Given the description of an element on the screen output the (x, y) to click on. 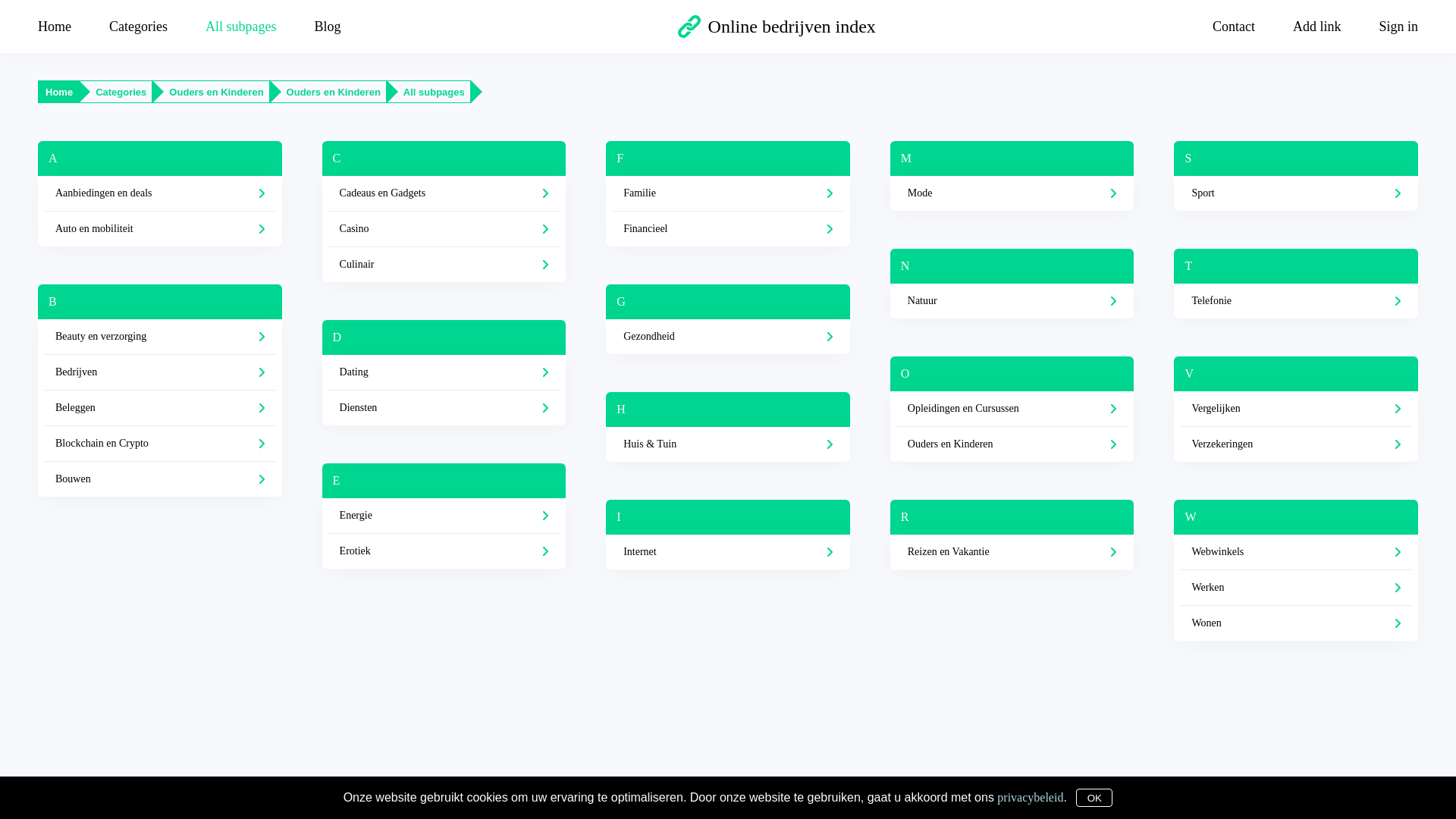
Aanbiedingen en deals Element type: text (159, 193)
Culinair Element type: text (444, 264)
Bouwen Element type: text (159, 478)
Ouders en Kinderen Element type: text (333, 91)
aecm.be Element type: text (655, 803)
Ouders en Kinderen Element type: text (216, 91)
Beleggen Element type: text (159, 408)
Sign in Element type: text (1388, 25)
Blockchain en Crypto Element type: text (159, 443)
Telefonie Element type: text (1295, 300)
Financieel Element type: text (727, 228)
Webwinkels Element type: text (1295, 552)
Casino Element type: text (444, 229)
Contact Element type: text (1233, 25)
Home Element type: text (58, 91)
Wonen Element type: text (1295, 622)
Huis & Tuin Element type: text (727, 443)
All subpages Element type: text (240, 25)
Natuur Element type: text (1012, 300)
Erotiek Element type: text (444, 550)
Energie Element type: text (444, 515)
Categories Element type: text (138, 25)
Privacy Policy Element type: text (703, 803)
Auto en mobiliteit Element type: text (159, 228)
Terms & Conditions Element type: text (773, 803)
Bedrijven Element type: text (159, 372)
Blog Element type: text (326, 25)
Verzekeringen Element type: text (1295, 443)
Contact Element type: text (830, 803)
Add link Element type: text (1317, 25)
Dating Element type: text (444, 372)
Online bedrijven index Element type: text (775, 26)
Werken Element type: text (1295, 587)
privacybeleid Element type: text (1030, 796)
Cadeaus en Gadgets Element type: text (444, 193)
Familie Element type: text (727, 193)
Diensten Element type: text (444, 407)
Home Element type: text (63, 25)
Opleidingen en Cursussen Element type: text (1012, 408)
Mode Element type: text (1012, 192)
Categories Element type: text (120, 91)
Gezondheid Element type: text (727, 336)
Reizen en Vakantie Element type: text (1012, 551)
All subpages Element type: text (433, 91)
OK Element type: text (1094, 797)
Vergelijken Element type: text (1295, 408)
Ouders en Kinderen Element type: text (1012, 443)
Beauty en verzorging Element type: text (159, 336)
Internet Element type: text (727, 551)
Sport Element type: text (1295, 192)
